Given the description of an element on the screen output the (x, y) to click on. 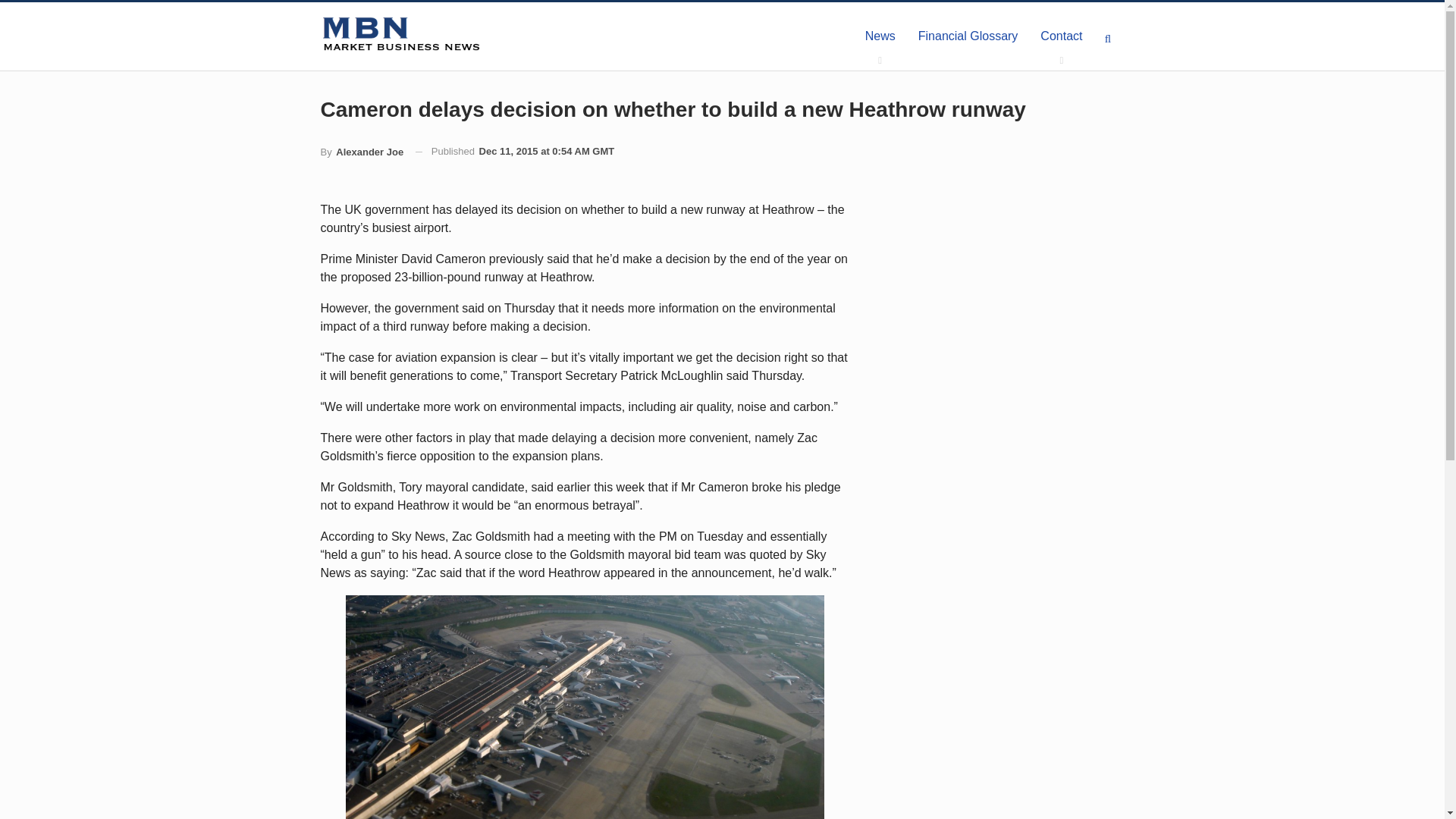
By Alexander Joe (361, 152)
Financial Glossary (968, 36)
Browse Author Articles (361, 152)
Contact (1061, 36)
